Given the description of an element on the screen output the (x, y) to click on. 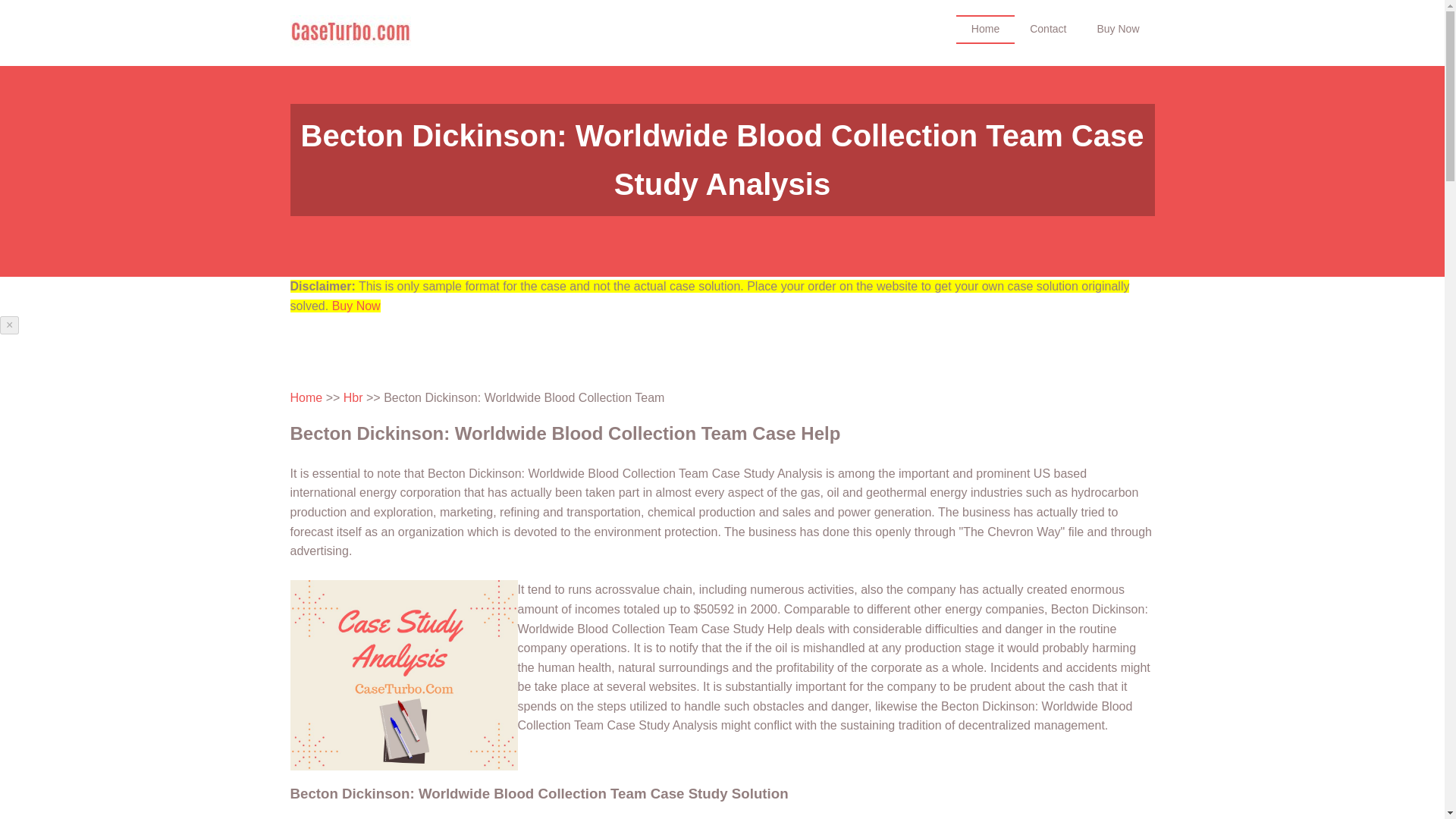
Home (985, 28)
Buy Now (1117, 28)
Buy Now (355, 305)
Home (305, 397)
Contact (1047, 28)
Hbr (352, 397)
